Given the description of an element on the screen output the (x, y) to click on. 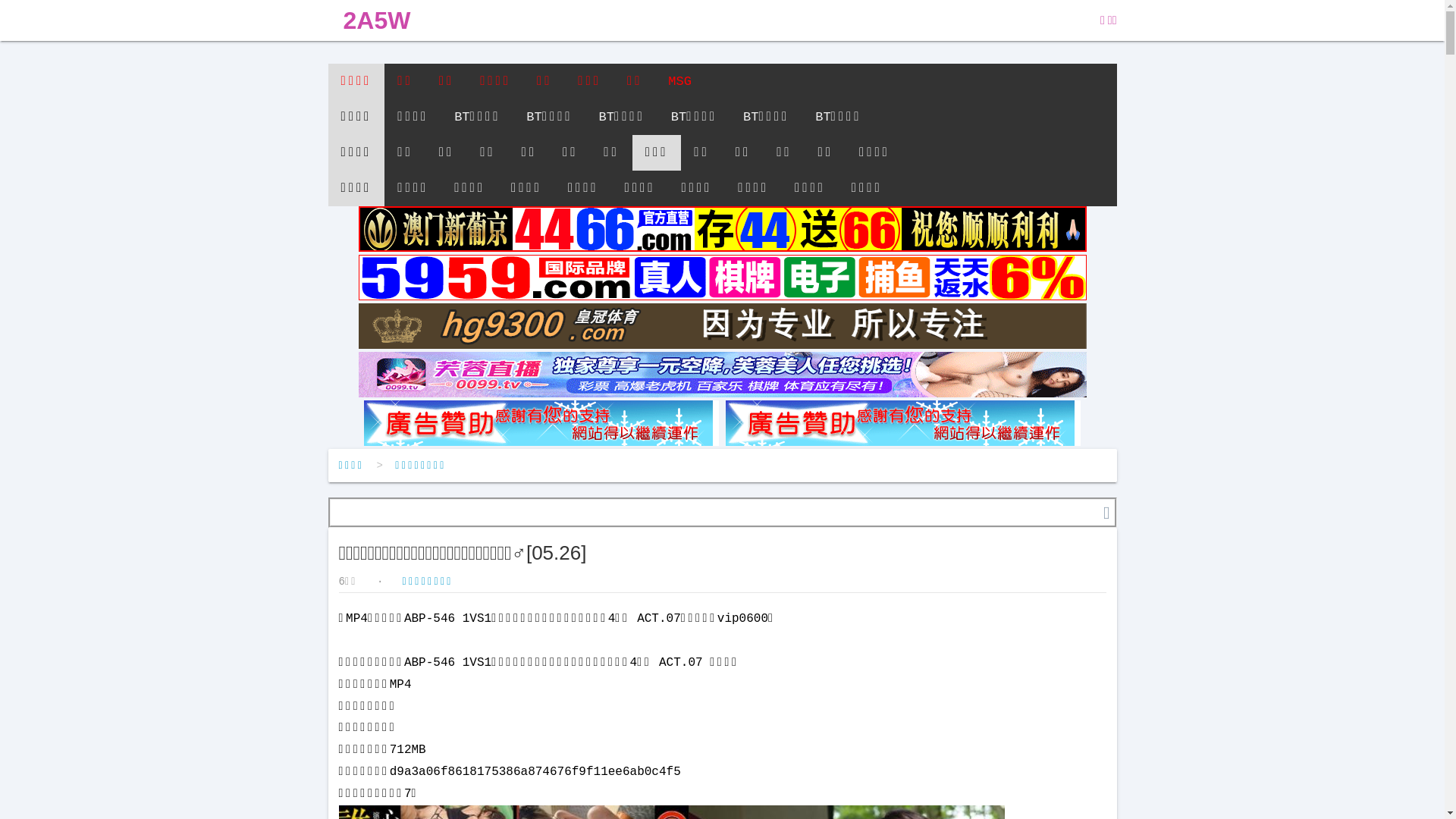
MSG Element type: text (679, 81)
2A5W Element type: text (376, 20)
